Given the description of an element on the screen output the (x, y) to click on. 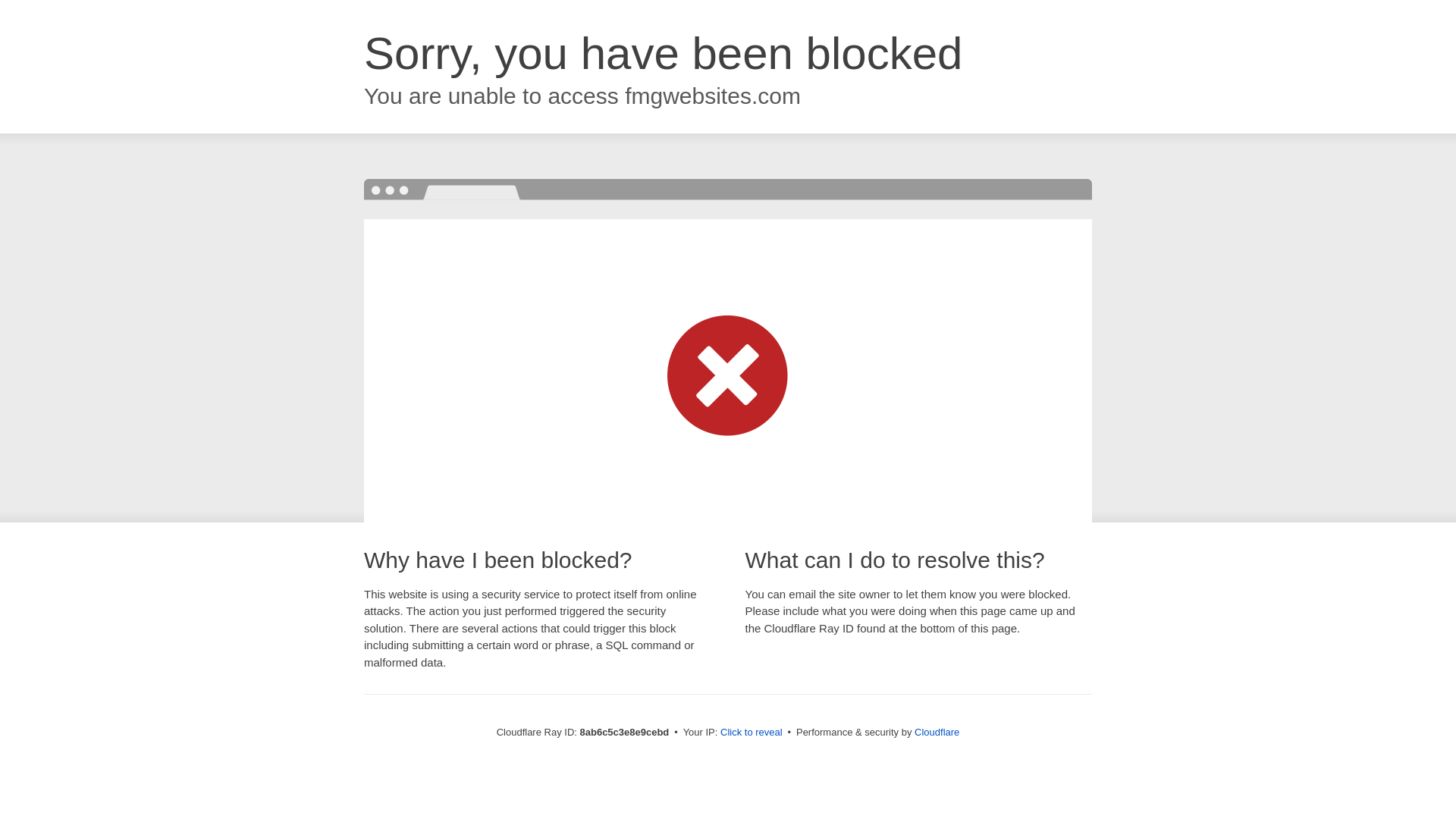
Click to reveal (751, 732)
Cloudflare (936, 731)
